Given the description of an element on the screen output the (x, y) to click on. 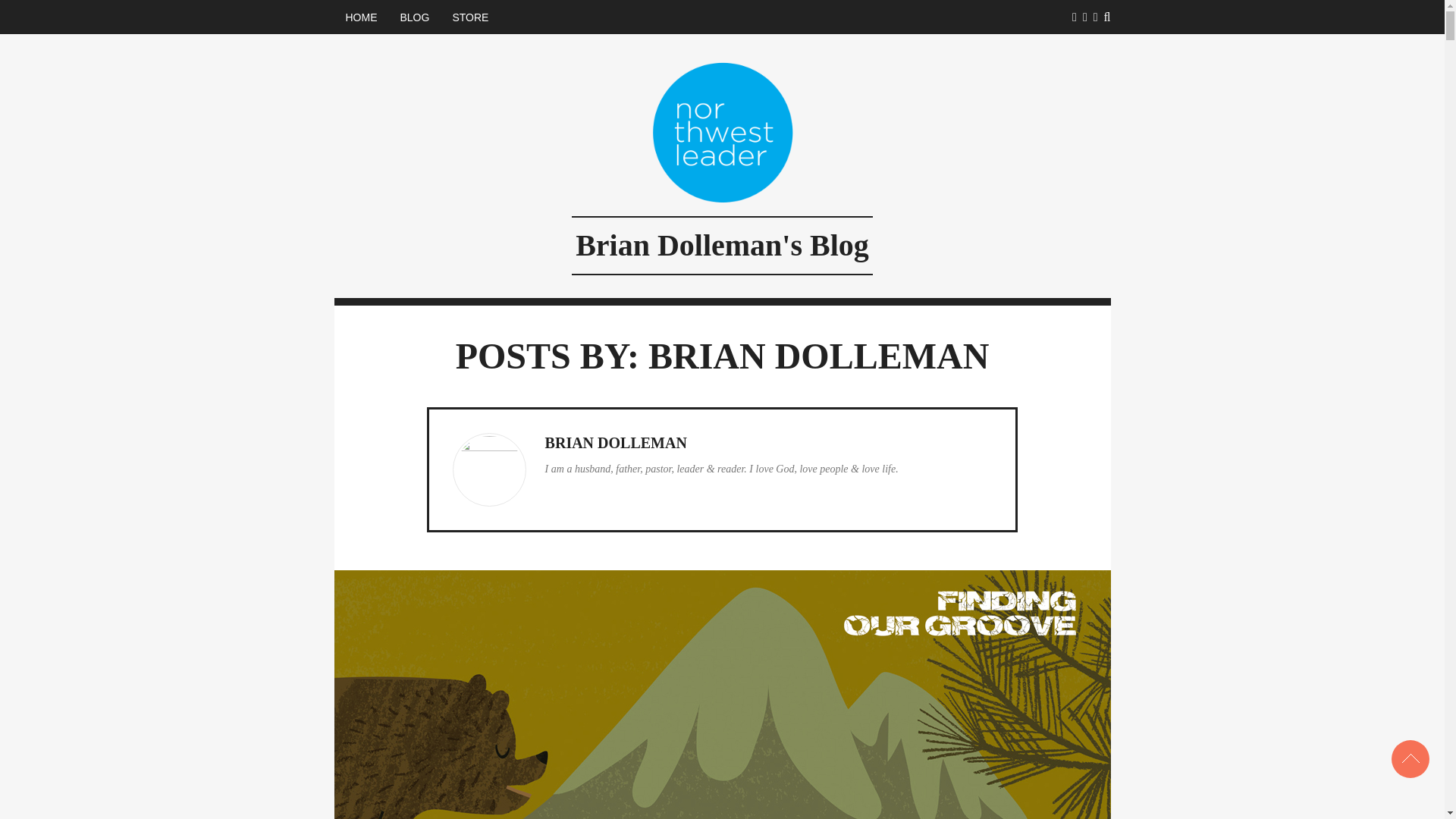
BLOG (414, 17)
HOME (360, 17)
BRIAN DOLLEMAN (615, 442)
STORE (470, 17)
